Given the description of an element on the screen output the (x, y) to click on. 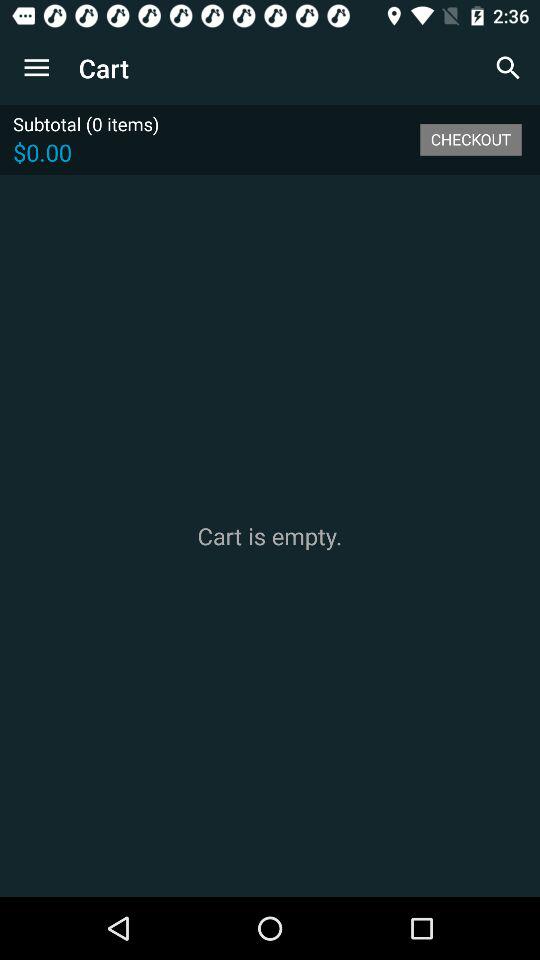
click the item next to the cart app (508, 67)
